Given the description of an element on the screen output the (x, y) to click on. 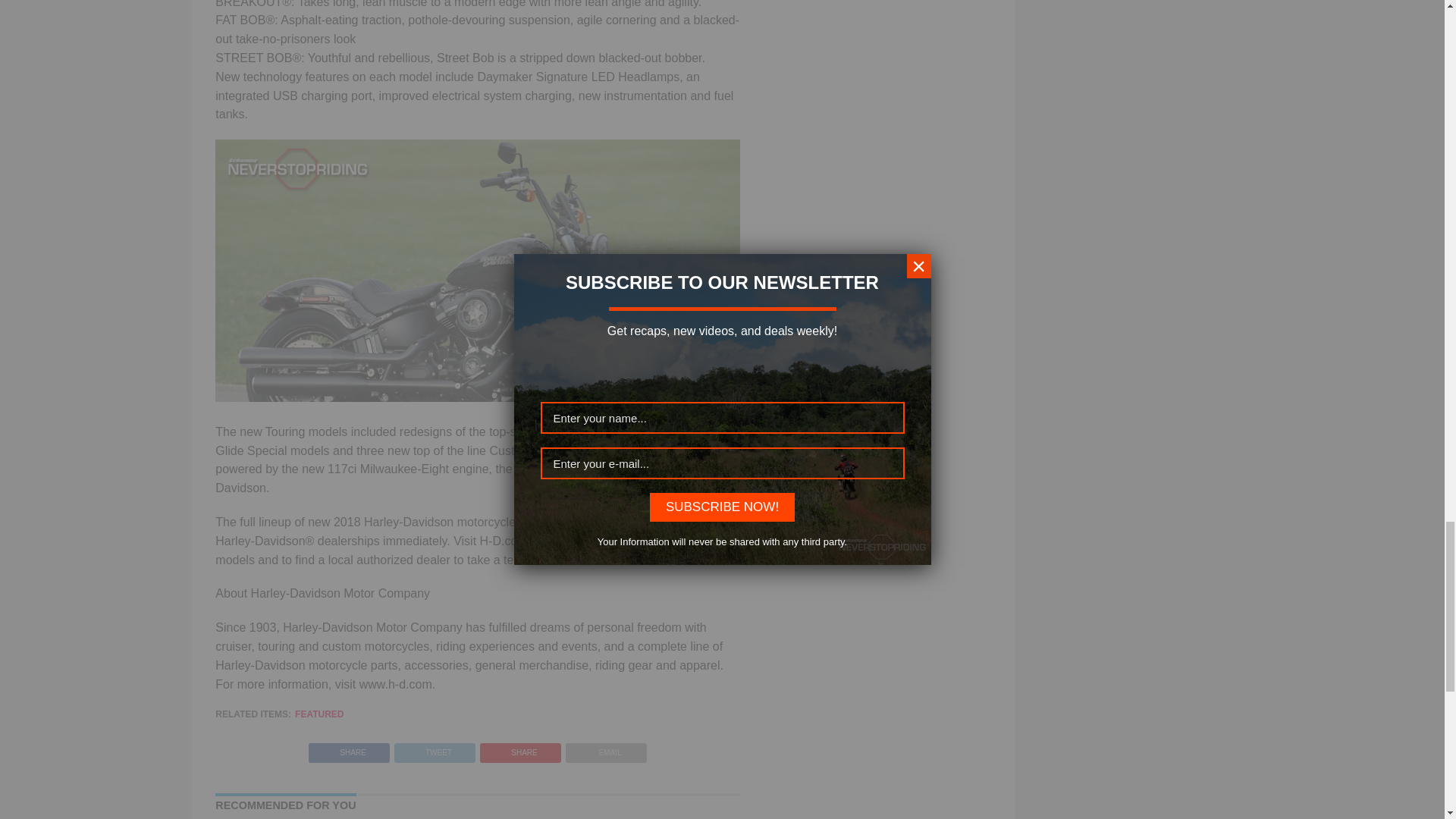
Share on Facebook (349, 748)
SHARE (520, 748)
FEATURED (319, 714)
SHARE (349, 748)
Tweet This Post (434, 748)
Pin This Post (520, 748)
TWEET (434, 748)
EMAIL (605, 748)
